Given the description of an element on the screen output the (x, y) to click on. 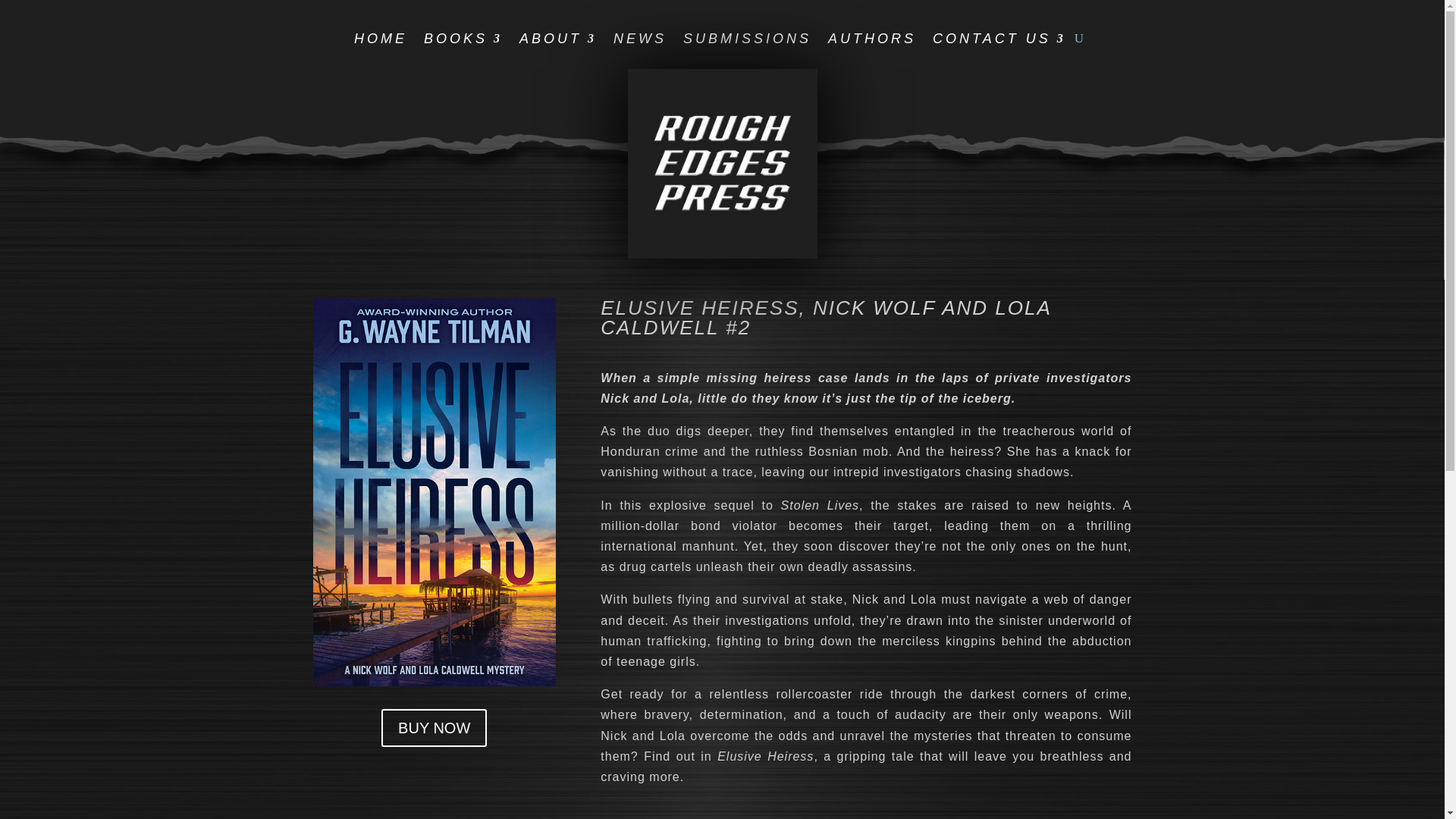
AUTHORS (871, 41)
REP logo (721, 163)
BOOKS (462, 41)
CONTACT US (999, 41)
ABOUT (557, 41)
Elusive Heiress ML (433, 492)
SUBMISSIONS (746, 41)
BUY NOW (433, 727)
NEWS (639, 41)
HOME (380, 41)
